Given the description of an element on the screen output the (x, y) to click on. 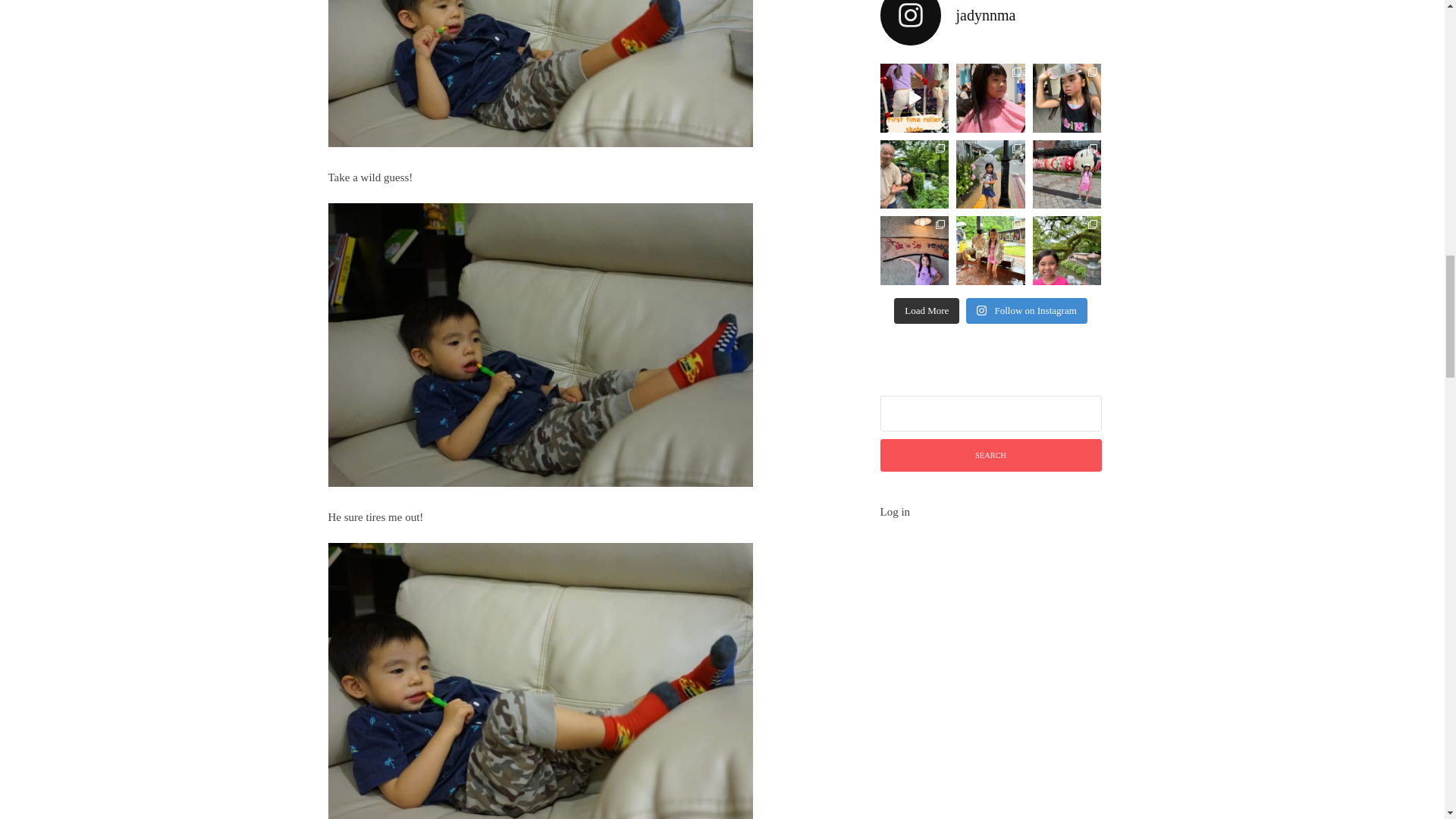
Search (989, 455)
